Given the description of an element on the screen output the (x, y) to click on. 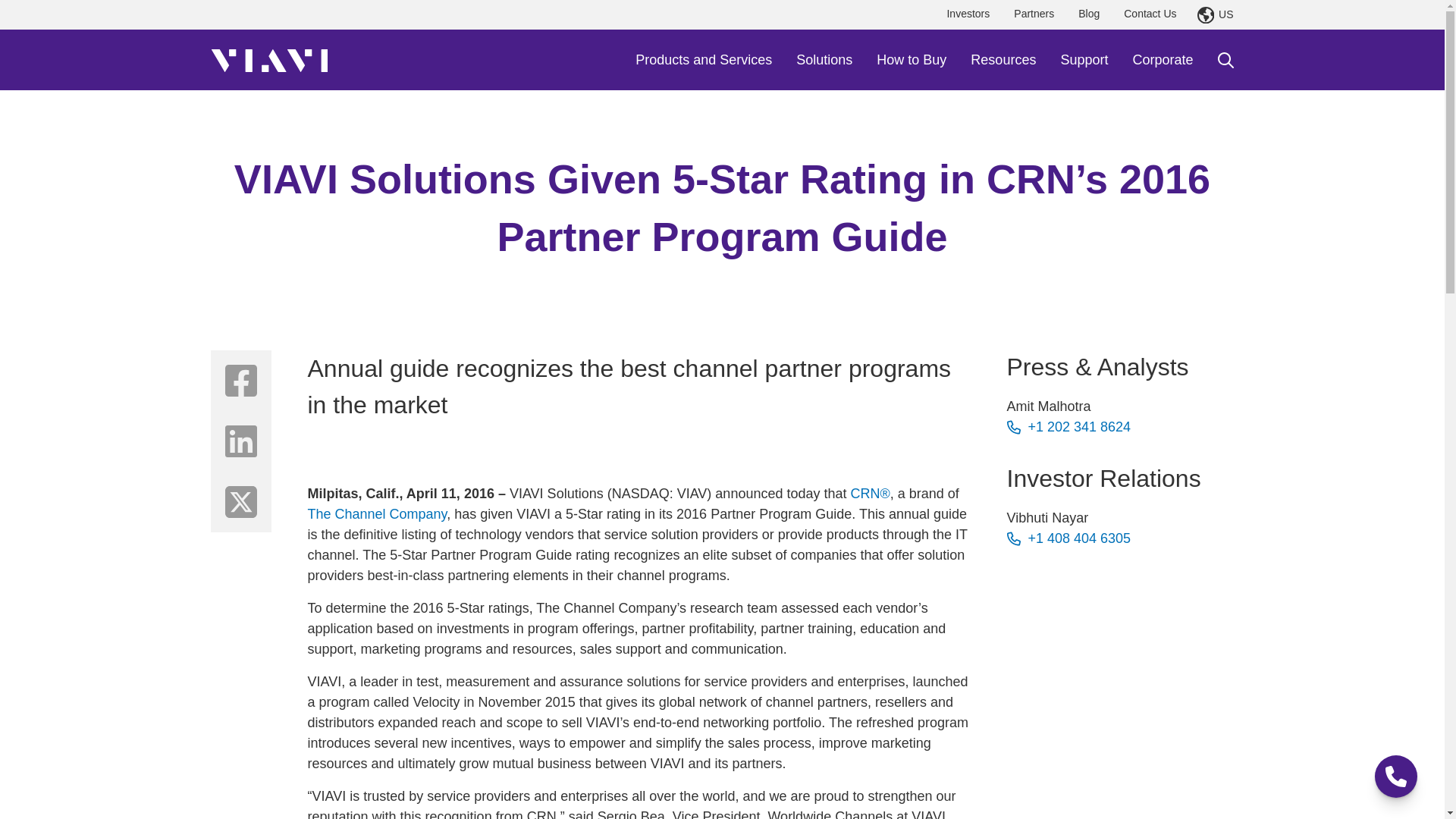
Partners (1033, 14)
US (1214, 15)
Blog (1088, 14)
VIAVI Solutions (269, 59)
Investors (967, 14)
Contact Us (1150, 14)
Products and Services (702, 60)
